Given the description of an element on the screen output the (x, y) to click on. 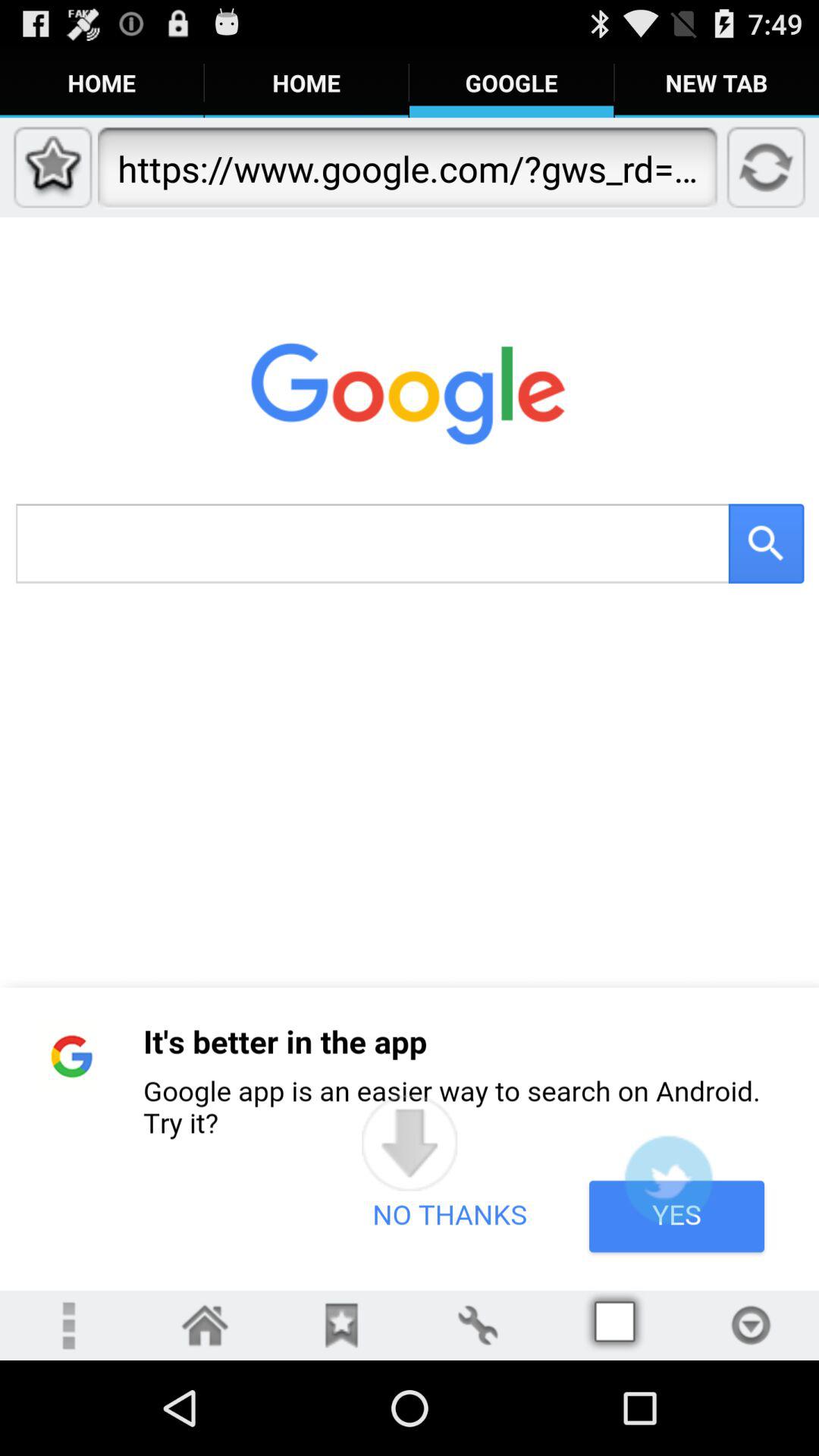
install google app (668, 1179)
